Given the description of an element on the screen output the (x, y) to click on. 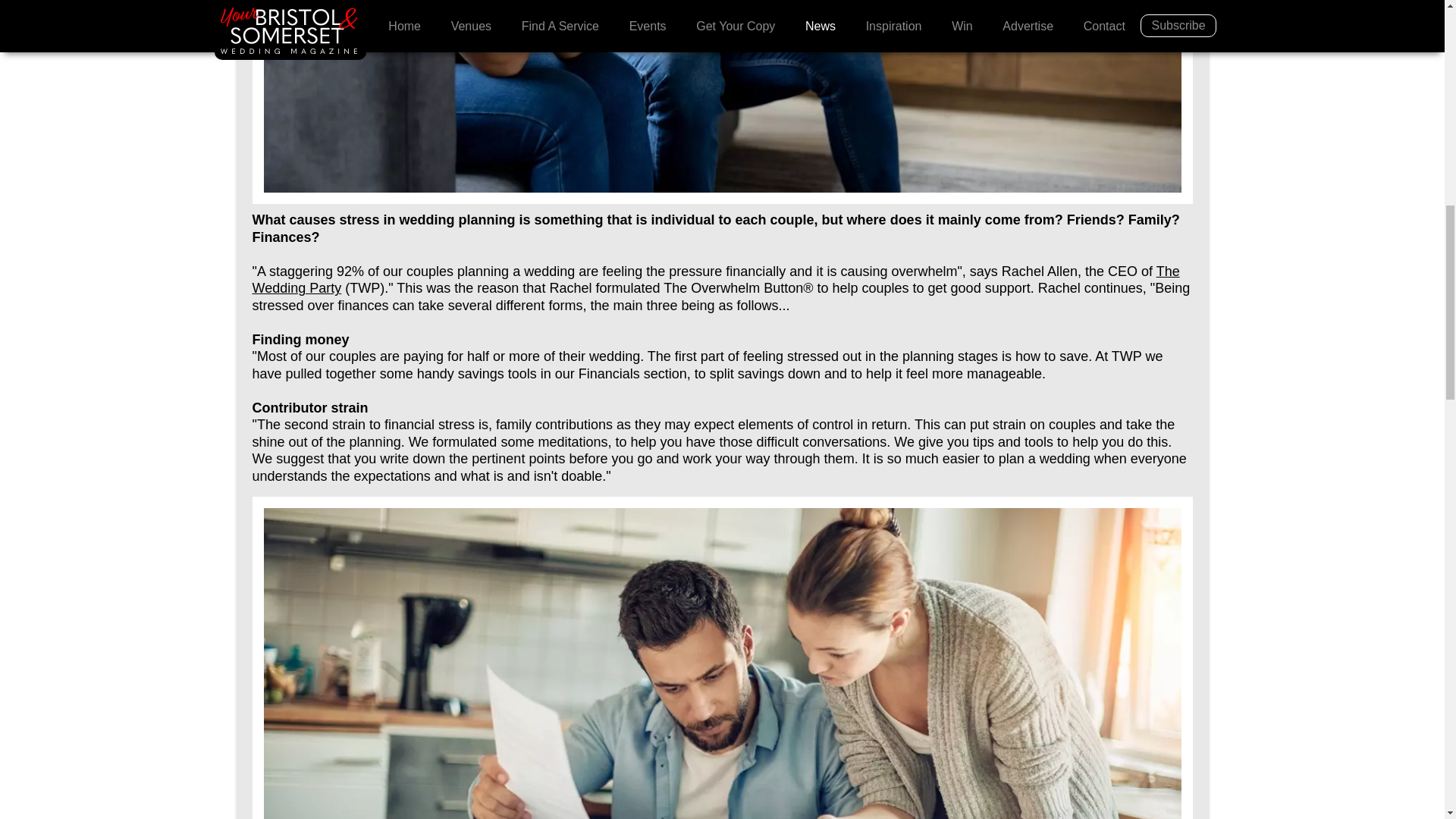
The Wedding Party (715, 279)
